Given the description of an element on the screen output the (x, y) to click on. 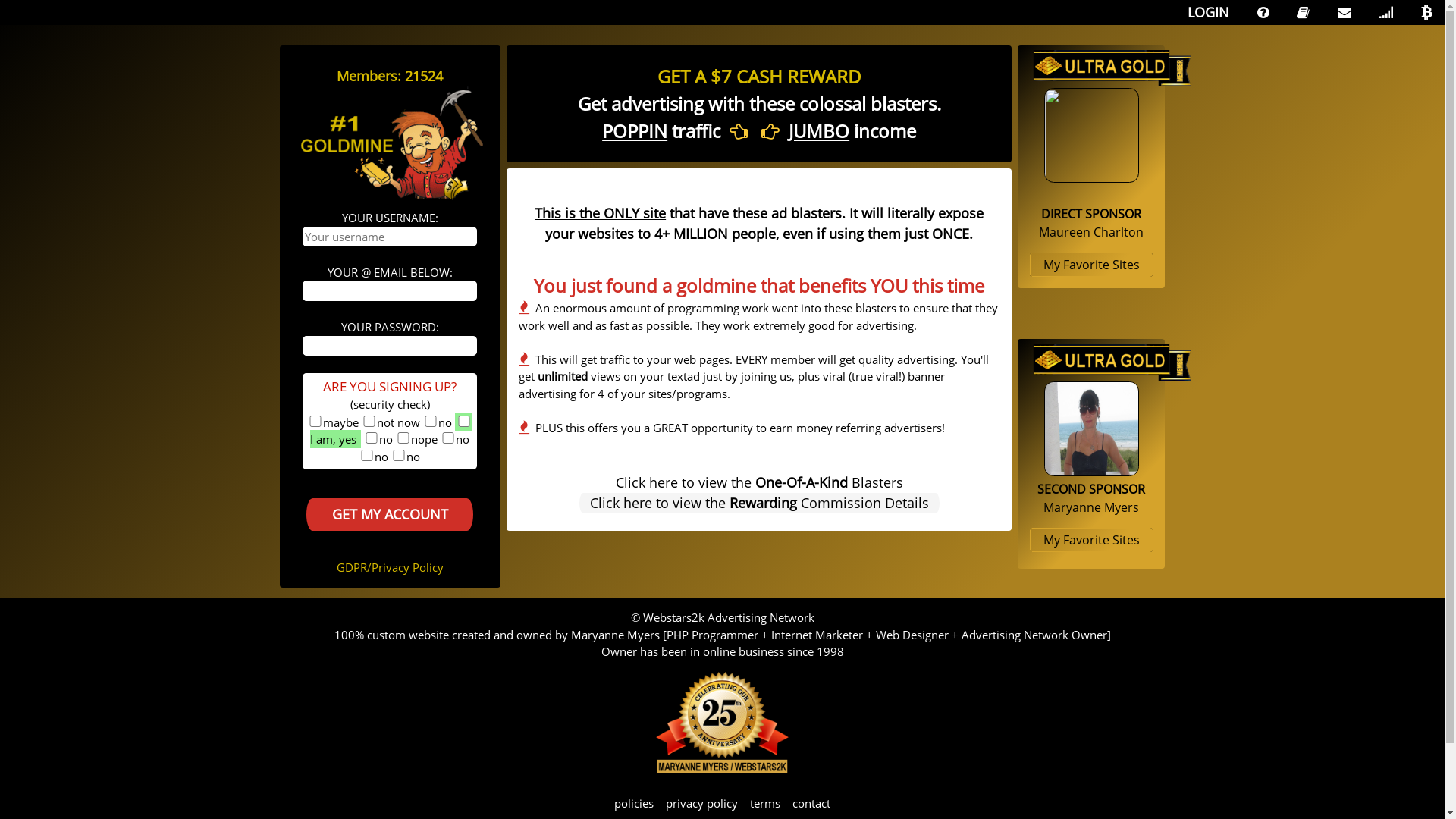
privacy policy Element type: text (701, 802)
MOBILE SITE Element type: hover (1386, 12)
terms Element type: text (764, 802)
Click here to view the One-Of-A-Kind Blasters Element type: text (759, 482)
FAQS Element type: hover (1262, 12)
LOGIN Element type: text (1198, 12)
GDPR/Privacy Policy Element type: text (389, 566)
Click here to view the Rewarding Commission Details Element type: text (758, 503)
My Favorite Sites Element type: text (1091, 539)
CONTACT Element type: hover (1344, 12)
contact Element type: text (811, 802)
GET MY ACCOUNT Element type: text (389, 514)
My Favorite Sites Element type: text (1091, 264)
TERMS/POLICIES Element type: hover (1302, 12)
policies Element type: text (633, 802)
CRYPTOCURRENCY SITE Element type: hover (1426, 12)
